Given the description of an element on the screen output the (x, y) to click on. 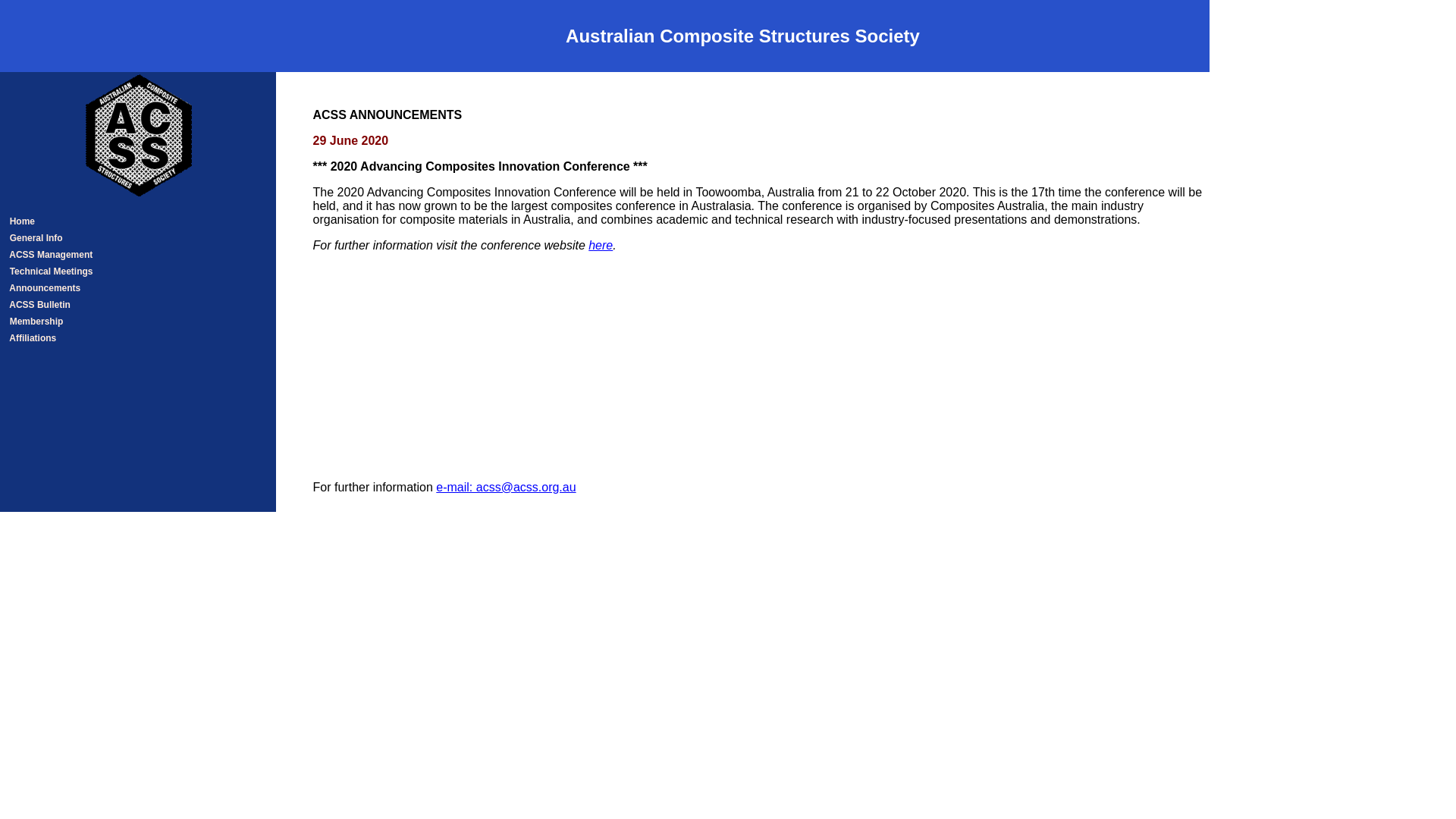
  Home   Element type: text (60, 221)
here Element type: text (600, 244)
  Technical Meetings   Element type: text (60, 271)
e-mail: acss@acss.org.au Element type: text (505, 486)
  Affiliations   Element type: text (60, 337)
  ACSS Bulletin   Element type: text (60, 304)
  Membership   Element type: text (60, 321)
  Announcements   Element type: text (60, 287)
